Given the description of an element on the screen output the (x, y) to click on. 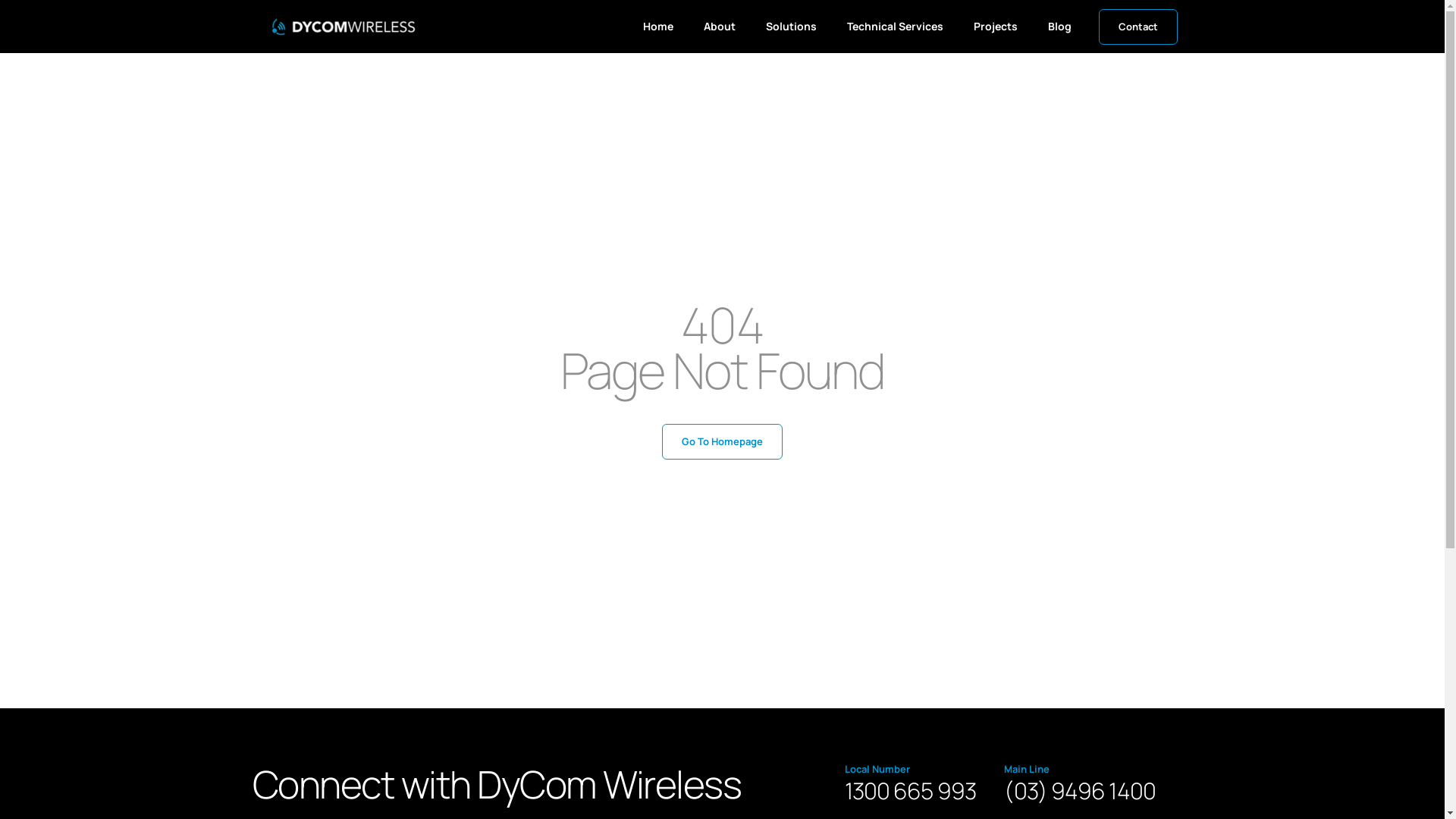
Technical Services Element type: text (894, 26)
1300 665 993 Element type: text (909, 790)
About Element type: text (719, 26)
Contact Element type: text (1137, 26)
Home Element type: text (657, 26)
Go To Homepage Element type: text (722, 440)
Blog Element type: text (1059, 26)
Solutions Element type: text (790, 26)
(03) 9496 1400 Element type: text (1079, 790)
Projects Element type: text (995, 26)
